Given the description of an element on the screen output the (x, y) to click on. 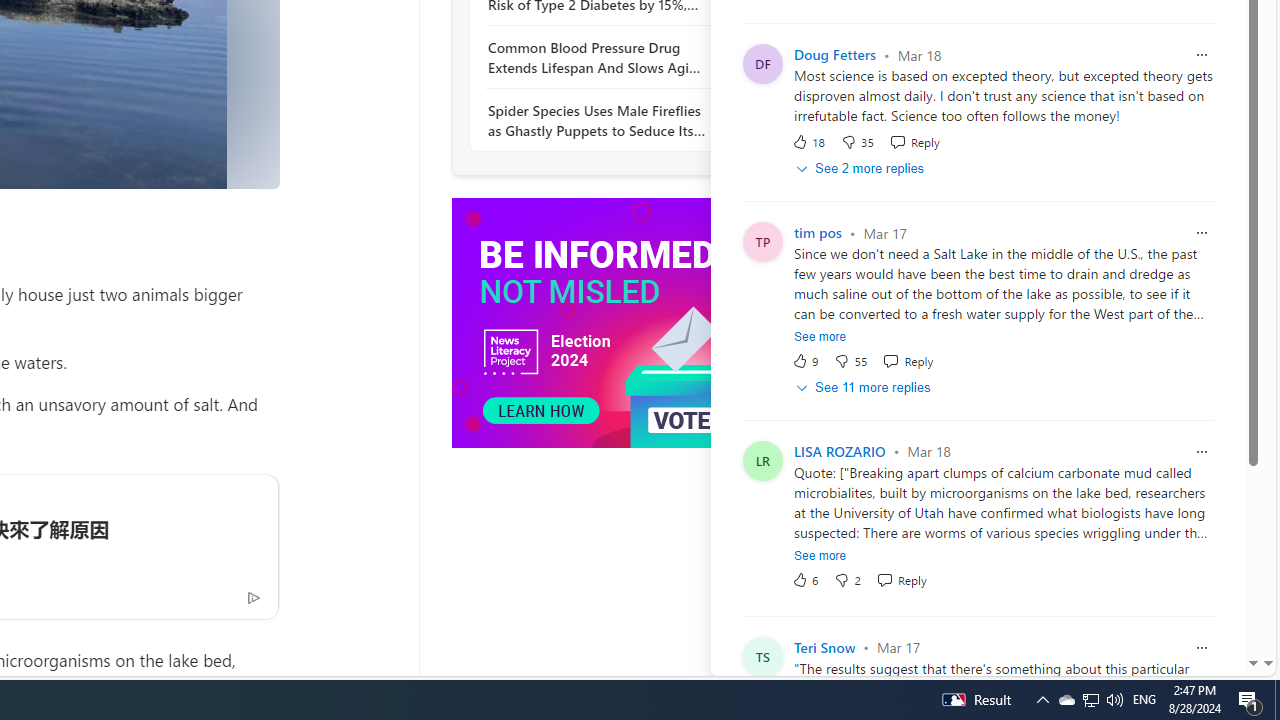
Reply Reply Comment (900, 579)
Profile Picture (762, 655)
tim pos (817, 233)
See more (820, 555)
To get missing image descriptions, open the context menu. (601, 322)
LISA ROZARIO (839, 451)
See 11 more replies (864, 387)
18 Like (808, 142)
To get missing image descriptions, open the context menu. (601, 324)
Feedback (1185, 659)
